Given the description of an element on the screen output the (x, y) to click on. 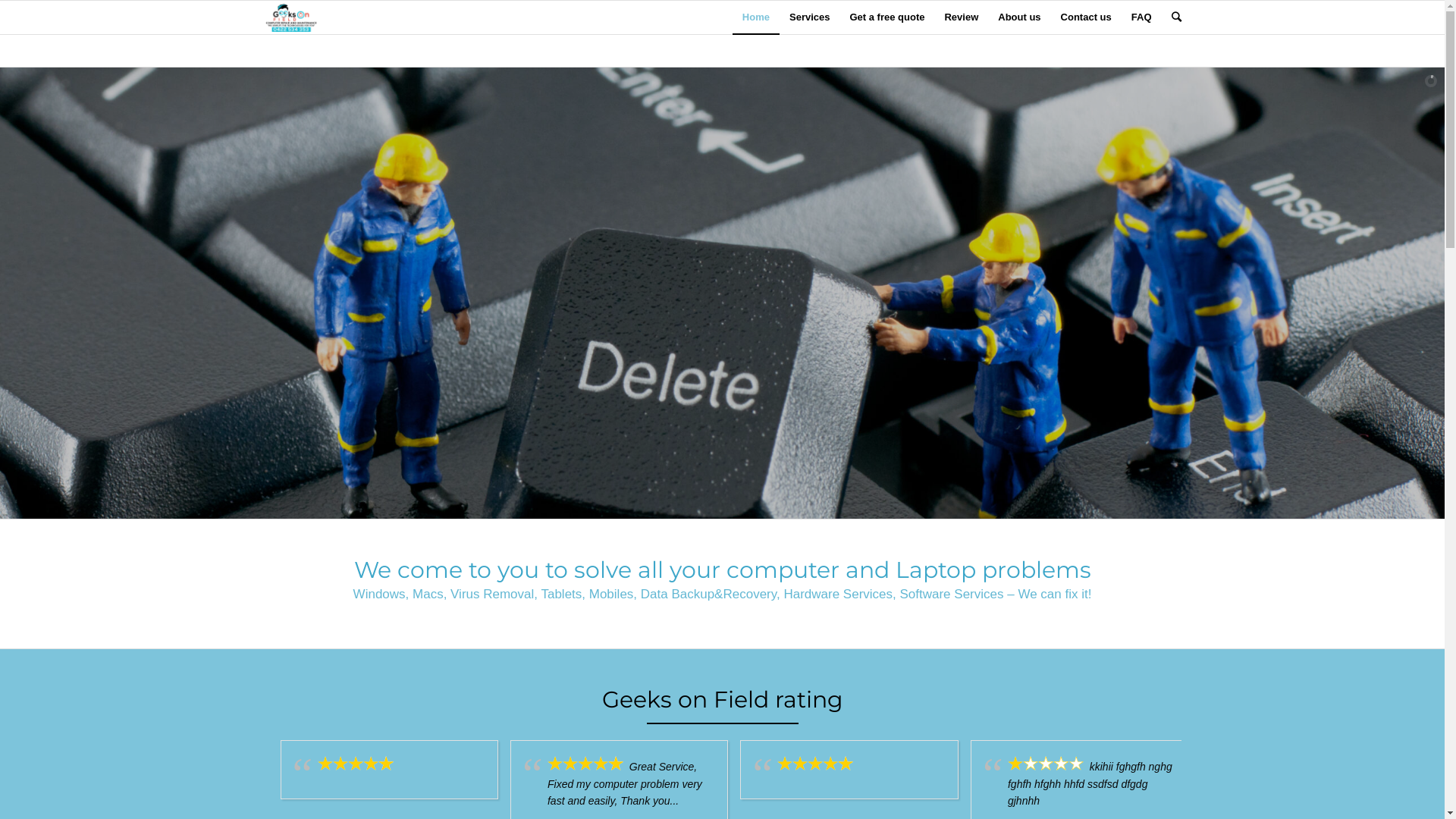
FAQ Element type: text (1141, 17)
Get a free quote Element type: text (886, 17)
About us Element type: text (1019, 17)
Home Element type: text (755, 17)
Review Element type: text (961, 17)
Services Element type: text (809, 17)
Contact us Element type: text (1086, 17)
